Given the description of an element on the screen output the (x, y) to click on. 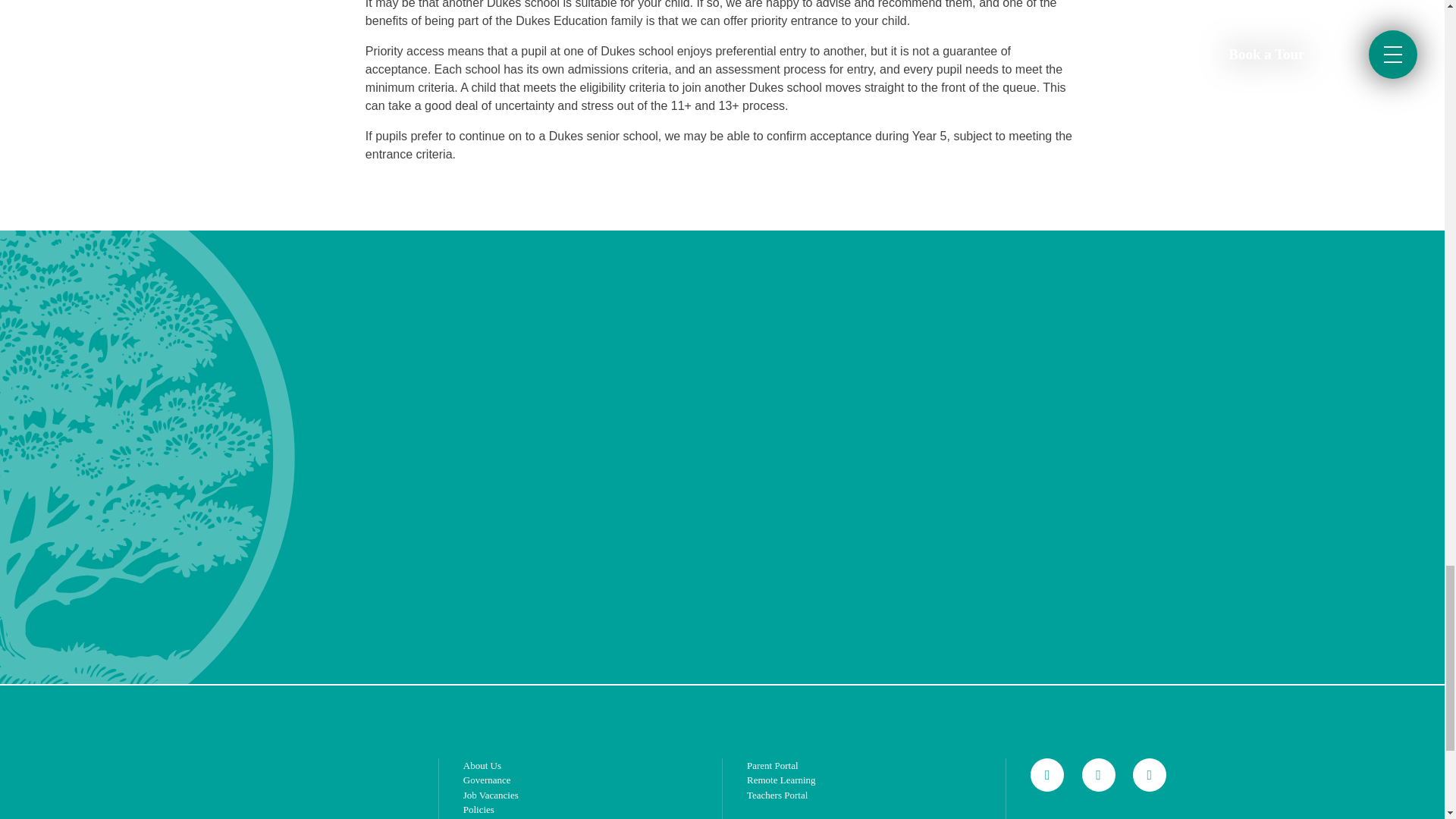
Instagram (1098, 774)
Facebook (1047, 774)
